Given the description of an element on the screen output the (x, y) to click on. 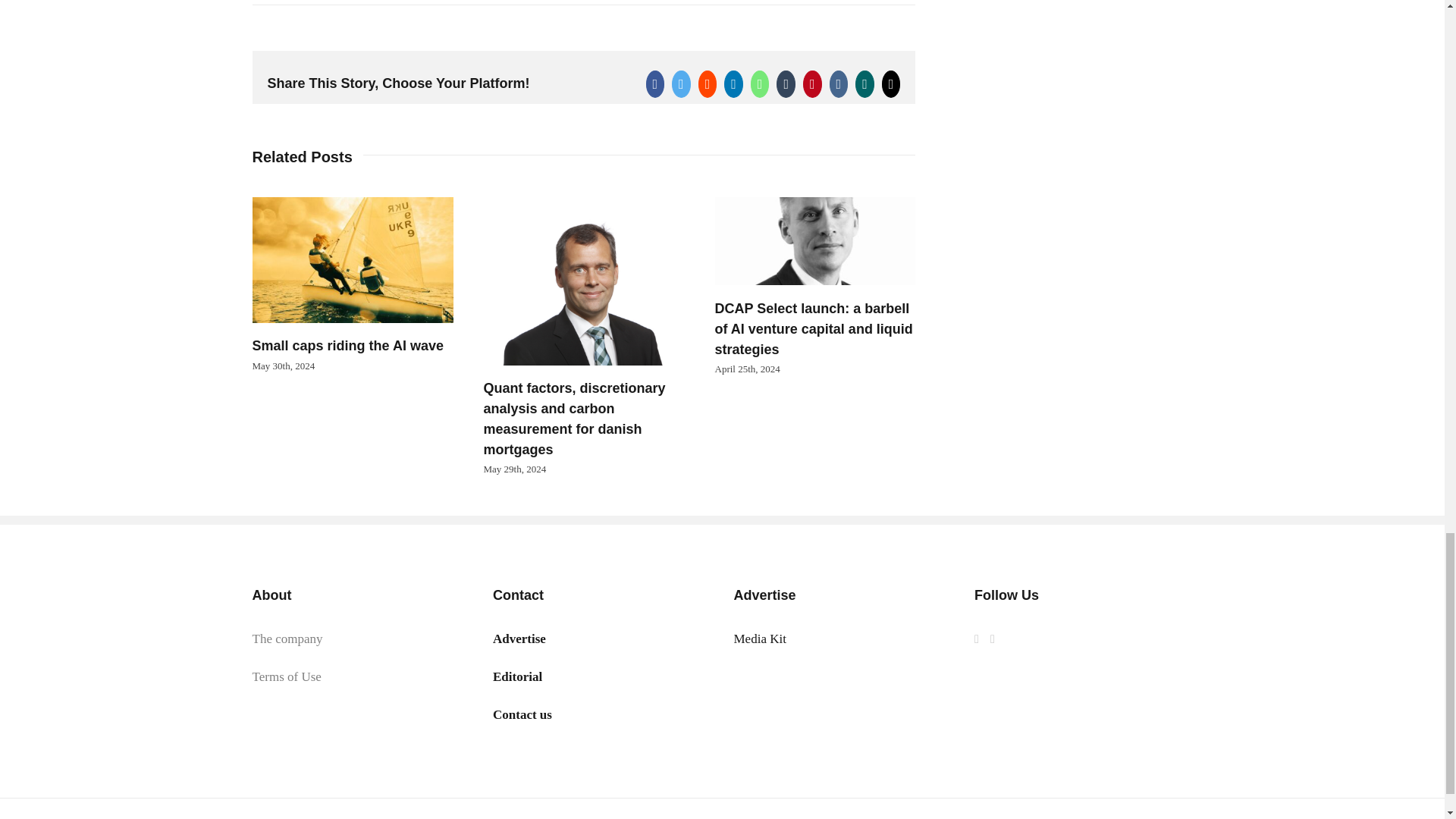
Small caps riding the AI wave (346, 345)
